Given the description of an element on the screen output the (x, y) to click on. 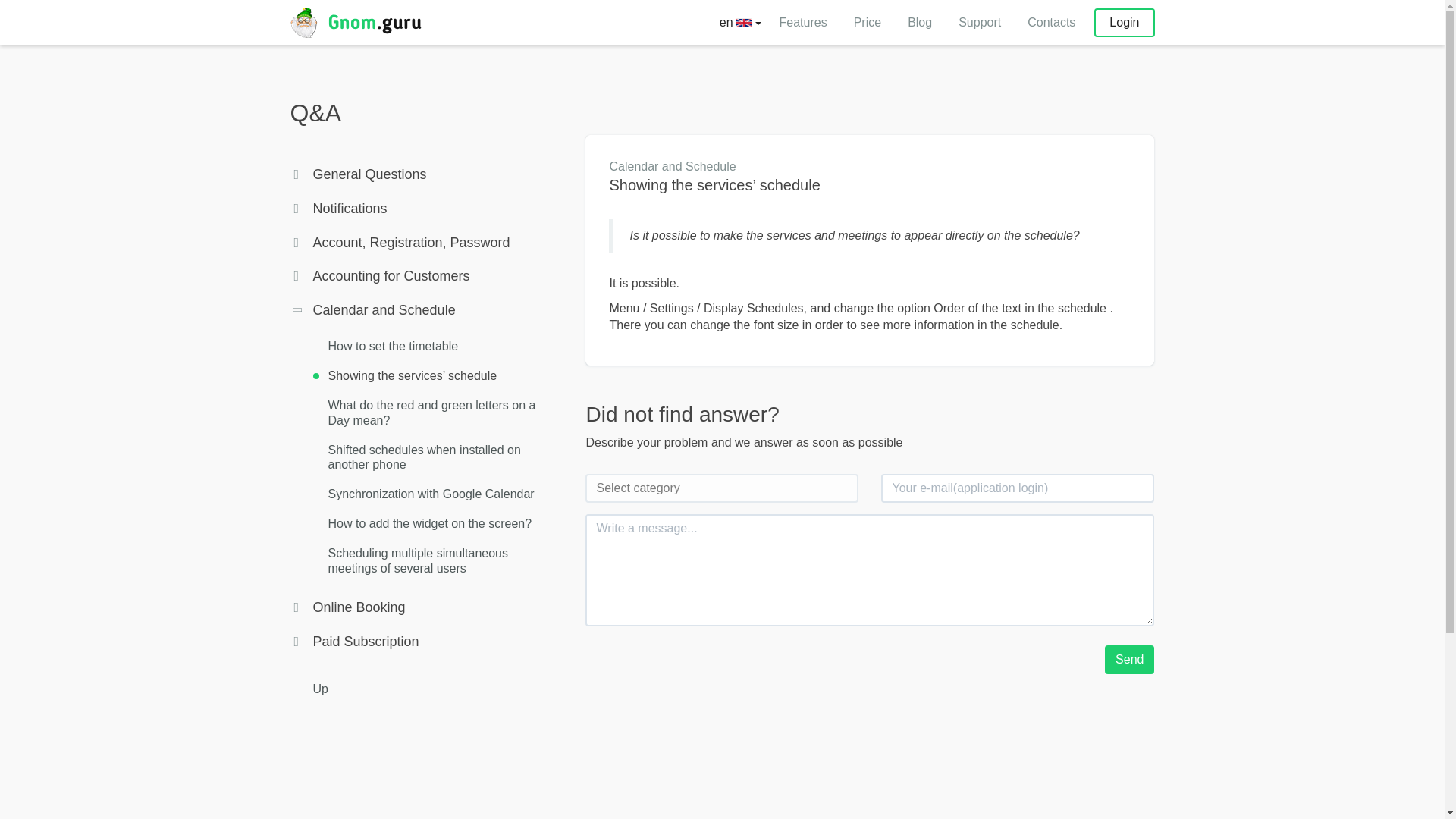
How to set the timetable (392, 345)
Price (866, 22)
What do the red and green letters on a Day mean? (431, 411)
Support (979, 22)
Features (802, 22)
Contacts (1051, 22)
Login (1124, 22)
